Given the description of an element on the screen output the (x, y) to click on. 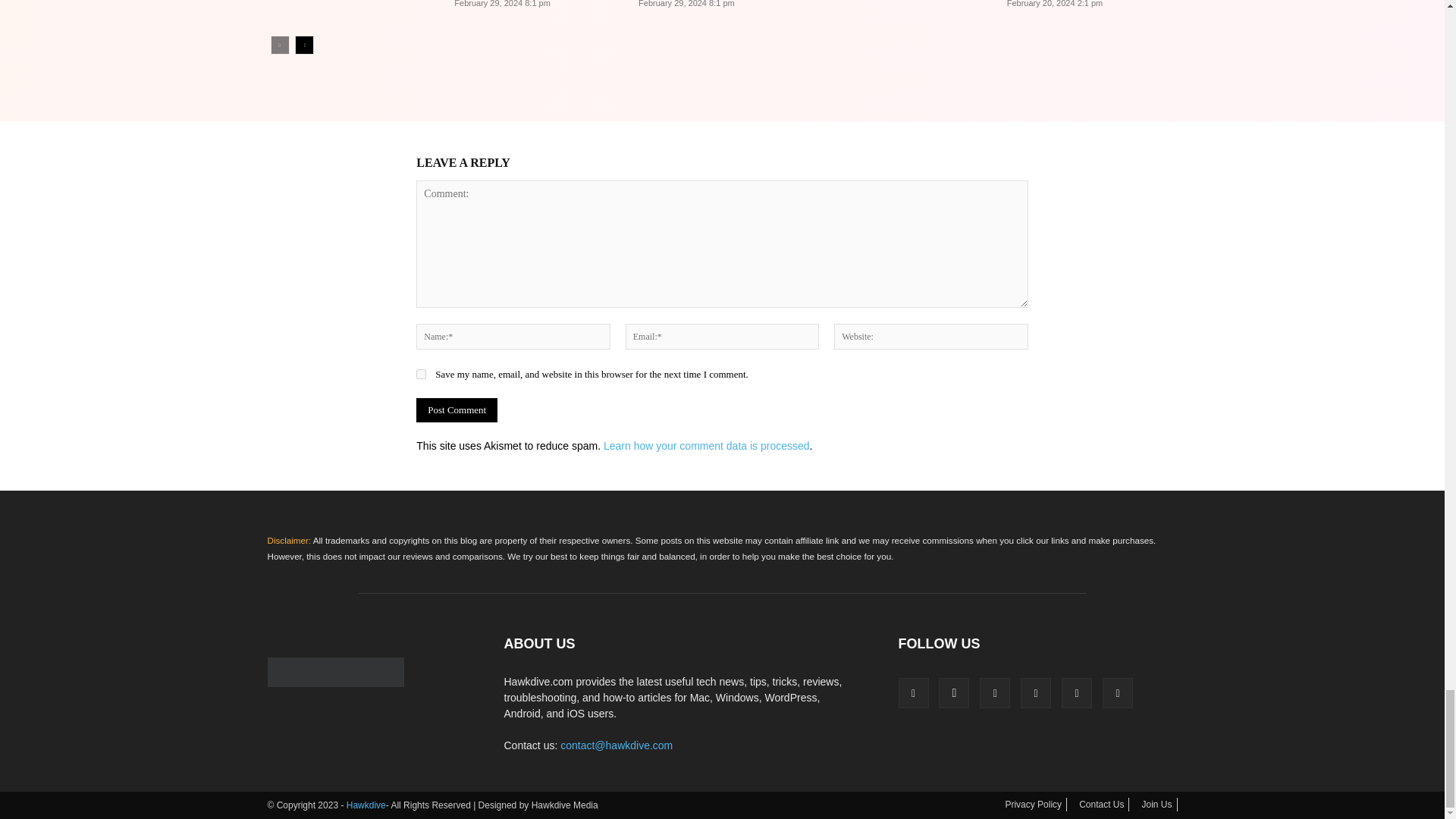
yes (421, 374)
Post Comment (456, 410)
